Given the description of an element on the screen output the (x, y) to click on. 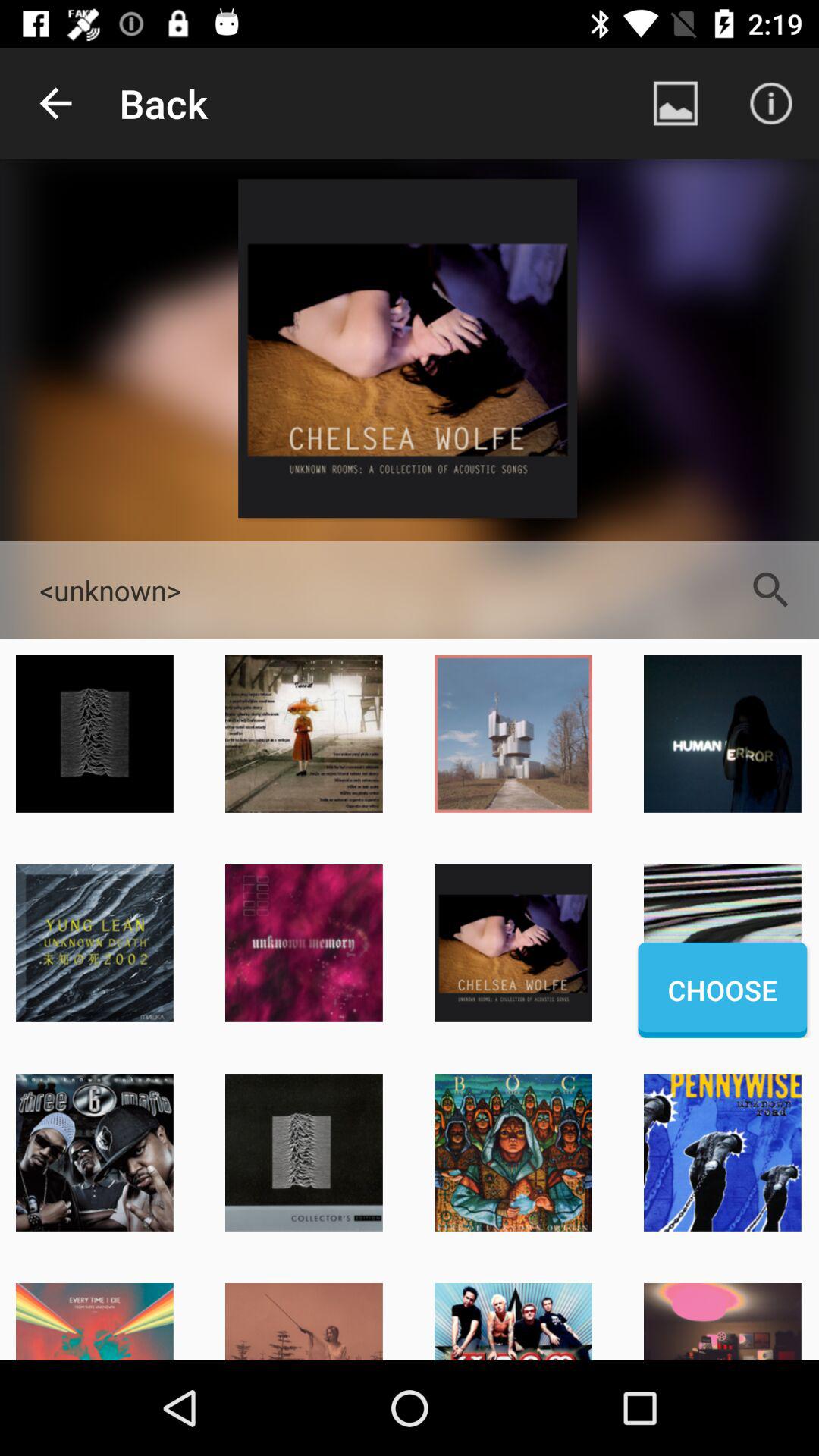
tap the item next to <unknown> (771, 590)
